Given the description of an element on the screen output the (x, y) to click on. 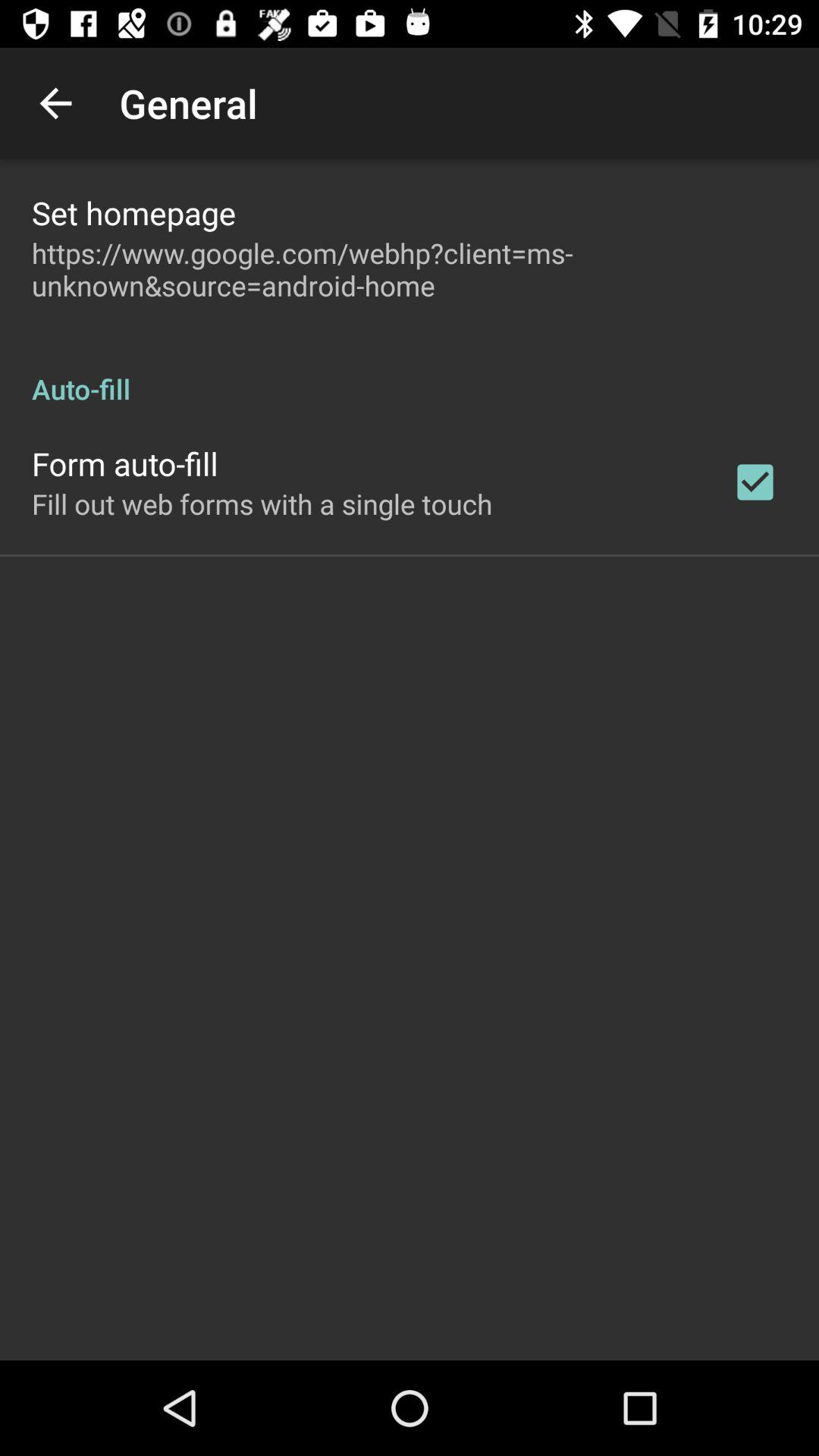
open checkbox at the top right corner (755, 482)
